Given the description of an element on the screen output the (x, y) to click on. 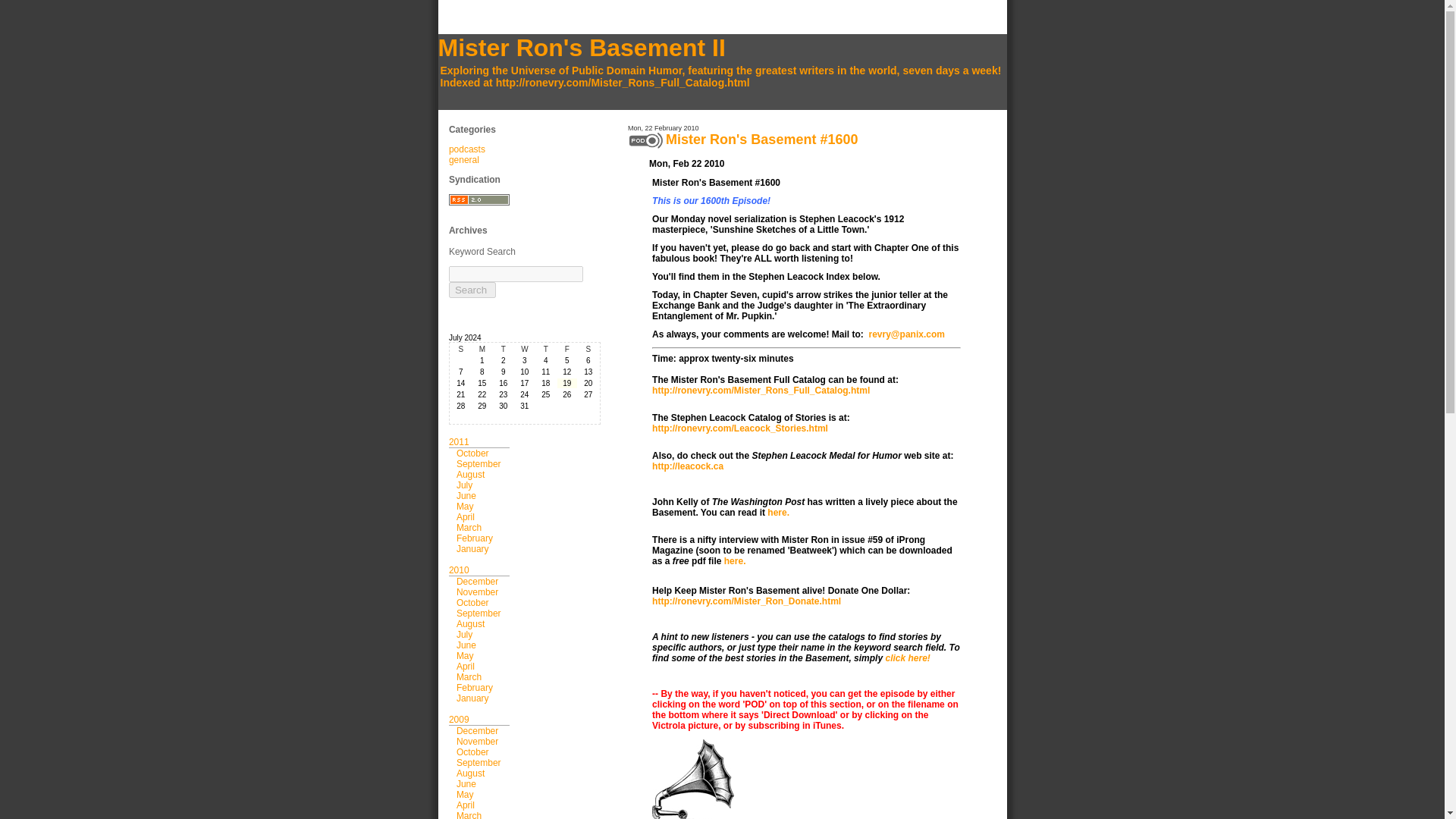
June (466, 783)
August (470, 474)
June (466, 495)
March (469, 676)
November (477, 741)
2009 (458, 719)
Tuesday (503, 348)
April (465, 665)
October (473, 452)
Wednesday (524, 348)
May (465, 506)
Monday (481, 348)
September (478, 463)
December (477, 581)
Search  (472, 289)
